Given the description of an element on the screen output the (x, y) to click on. 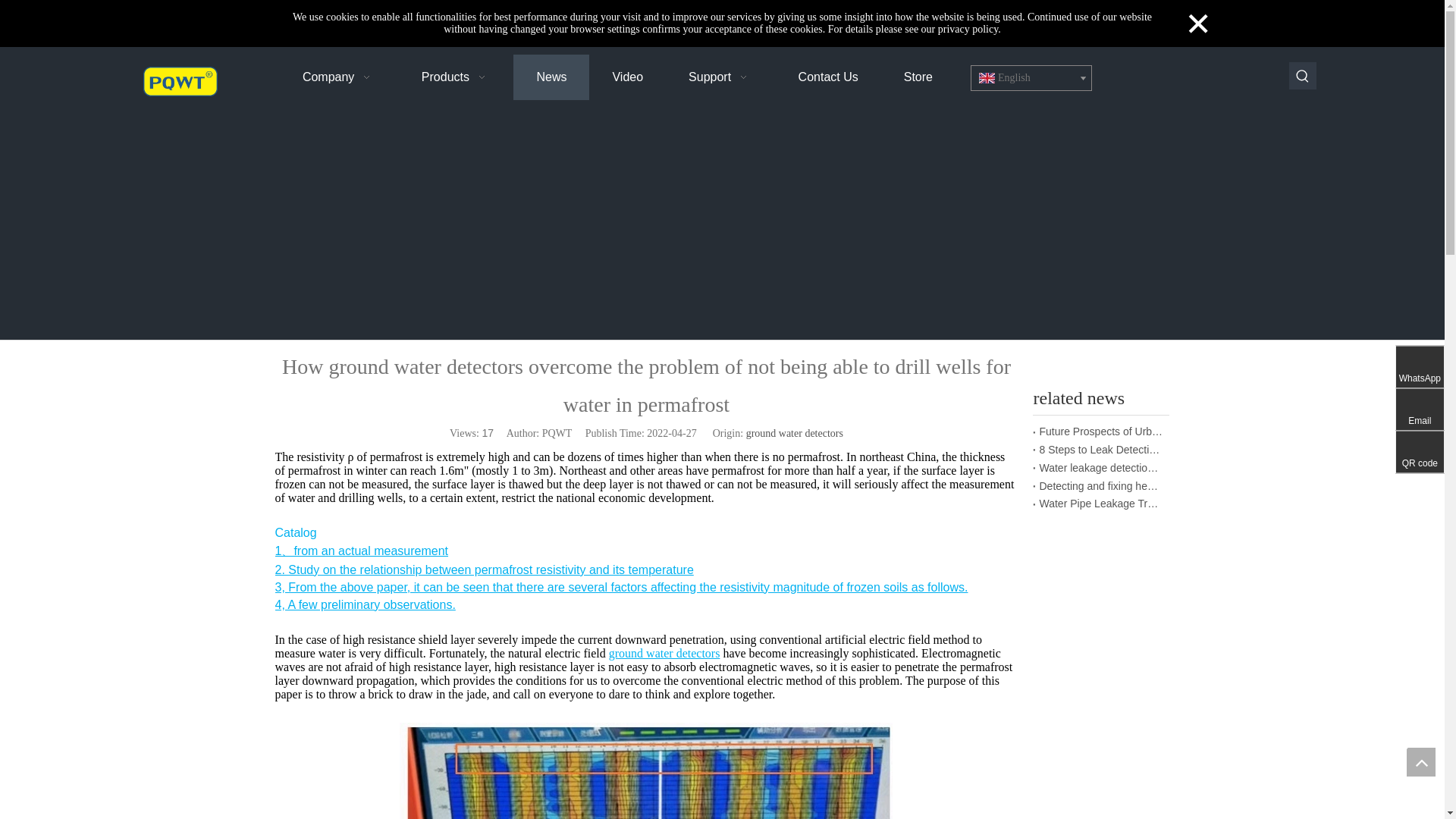
Logo (180, 81)
Company   (338, 76)
8 Steps to Leak Detection for Buried Ground Water Pipes (1101, 450)
Future Prospects of Urban Pipe Cable Locator Industry (1101, 432)
Video (627, 76)
Water Pipe Leakage Treatment (1101, 504)
Products   (455, 76)
Store (917, 76)
Support   (720, 76)
News (551, 76)
Contact Us (828, 76)
